Given the description of an element on the screen output the (x, y) to click on. 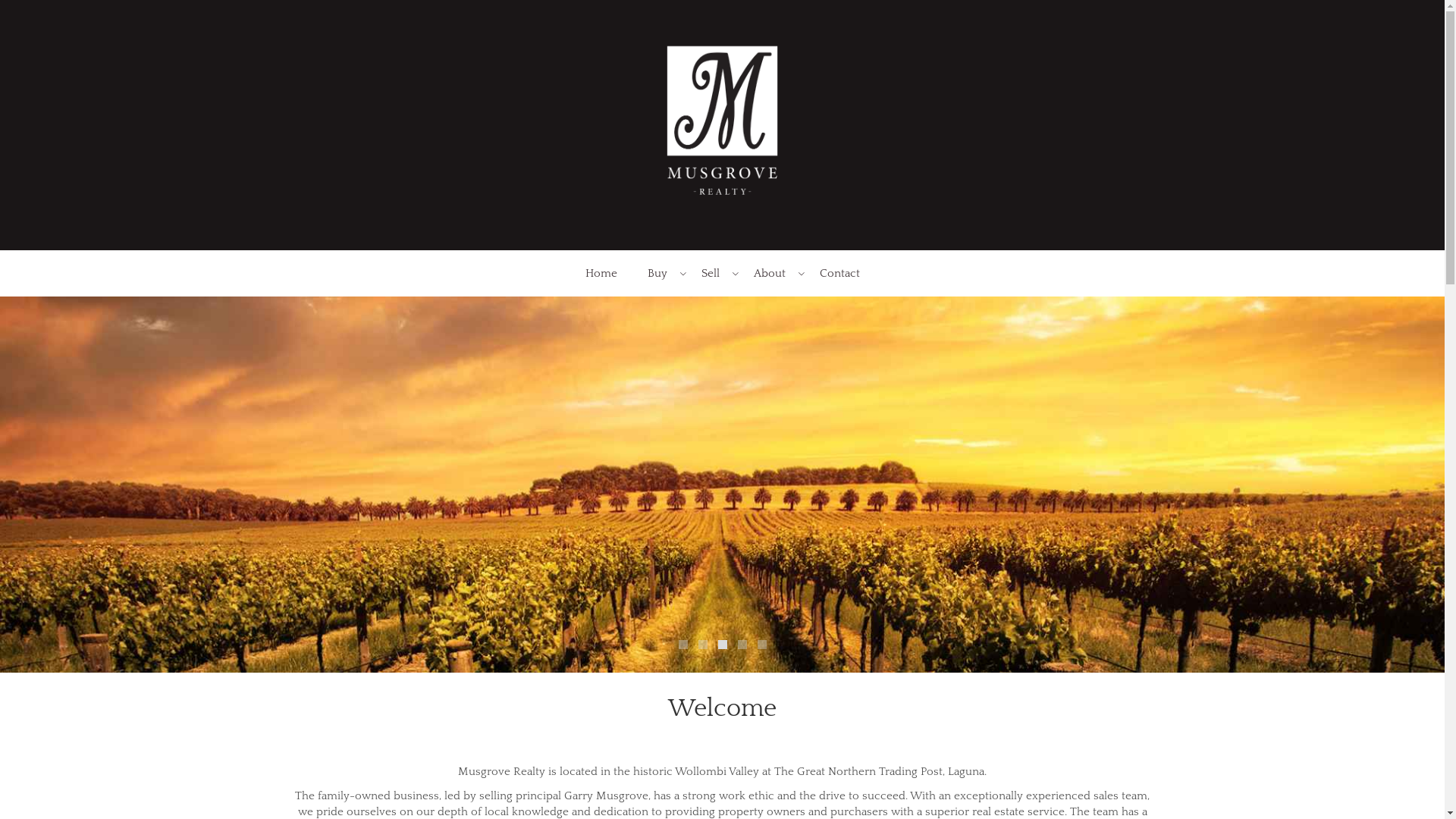
Home Element type: text (601, 273)
Musgrove Realty Element type: hover (721, 123)
Buy Element type: text (659, 273)
Contact Element type: text (838, 273)
About Element type: text (771, 273)
Sell Element type: text (711, 273)
